Given the description of an element on the screen output the (x, y) to click on. 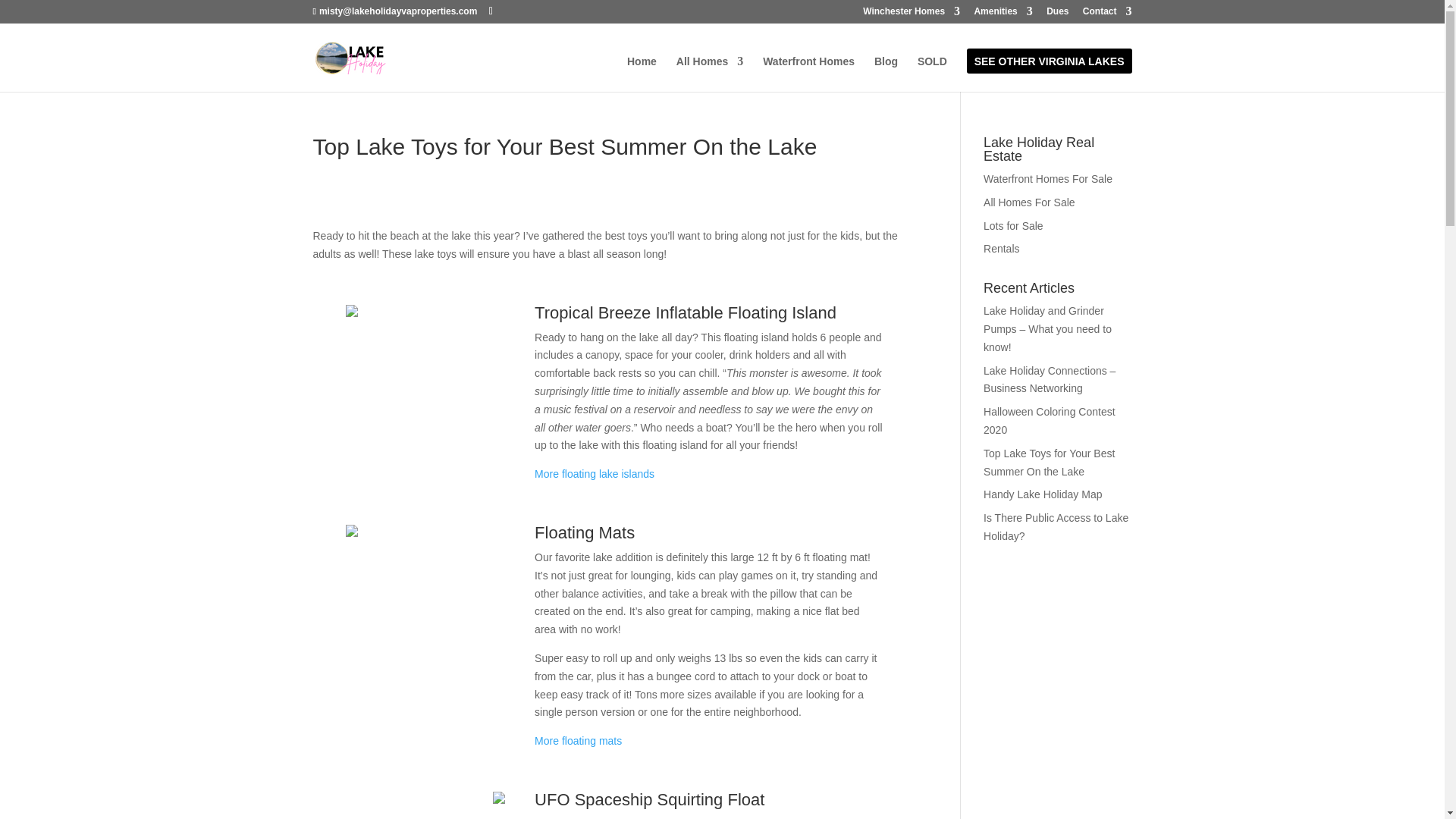
Waterfront Homes (808, 73)
Amenities (1003, 14)
Dues (1057, 14)
Contact (1107, 14)
All Homes (709, 73)
Tropical Breeze Inflatable Floating Island (684, 312)
Winchester Homes (911, 14)
SEE OTHER VIRGINIA LAKES (1049, 73)
